Given the description of an element on the screen output the (x, y) to click on. 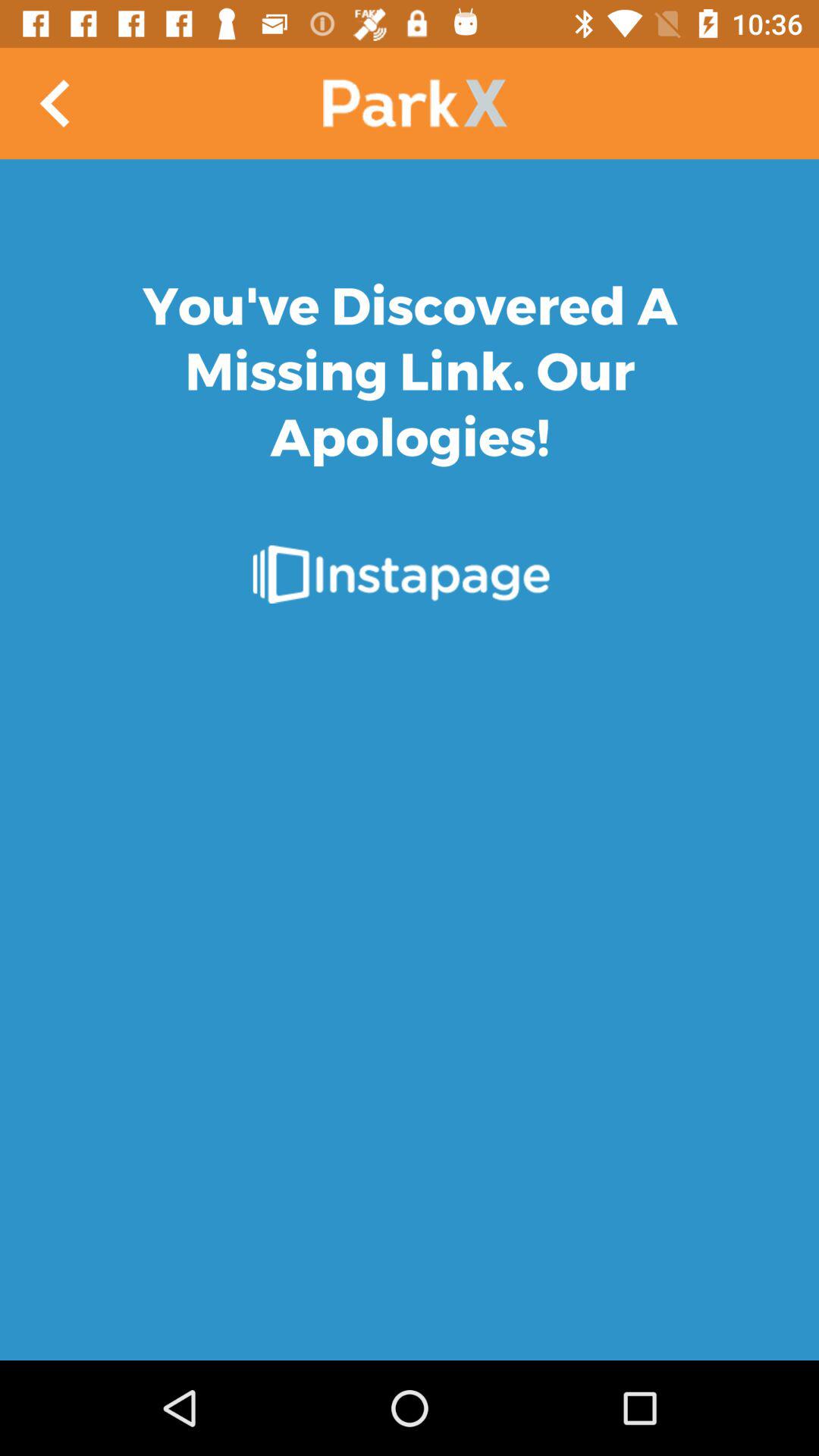
go back (55, 103)
